Given the description of an element on the screen output the (x, y) to click on. 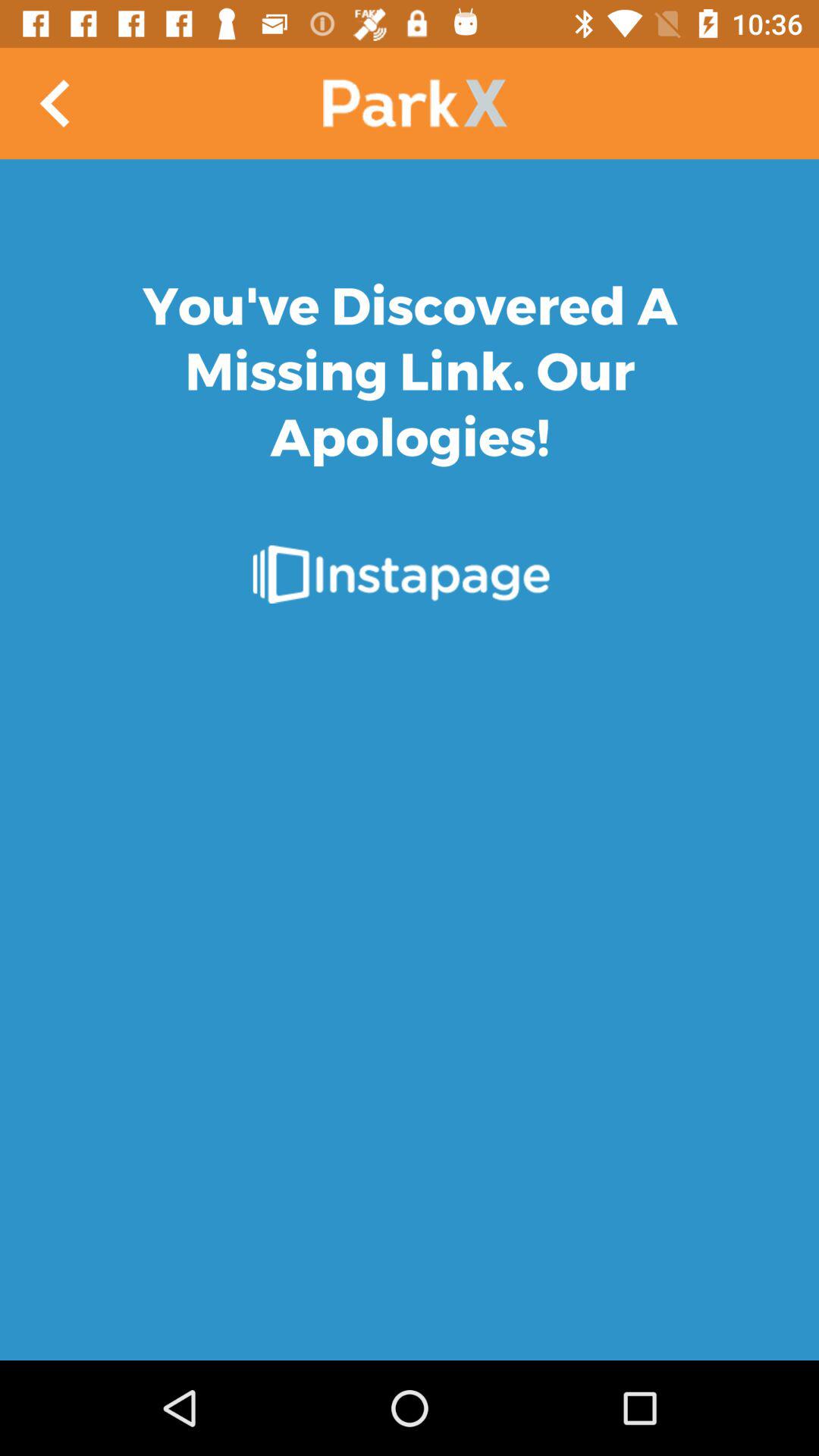
go back (55, 103)
